Given the description of an element on the screen output the (x, y) to click on. 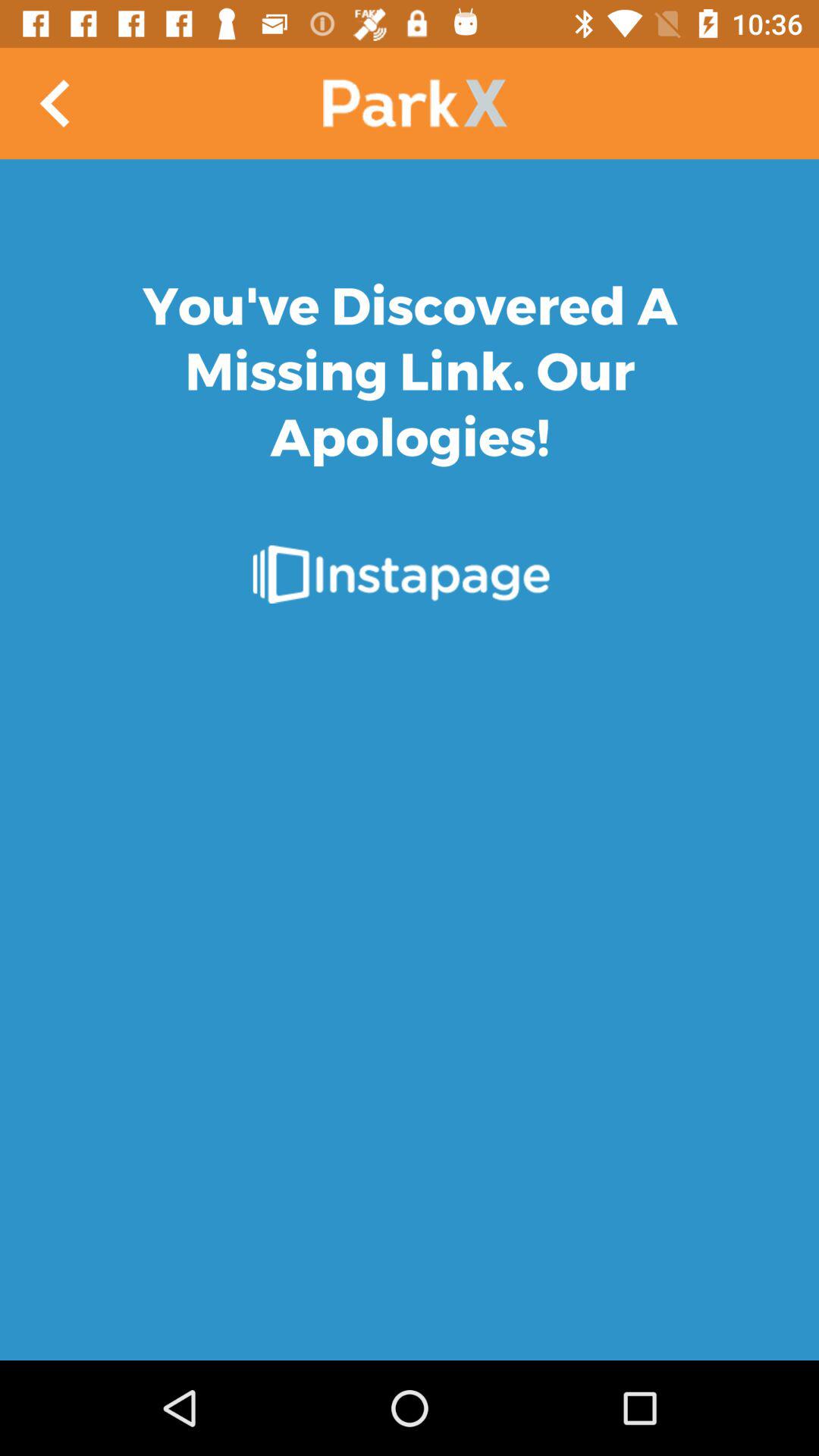
go back (55, 103)
